Given the description of an element on the screen output the (x, y) to click on. 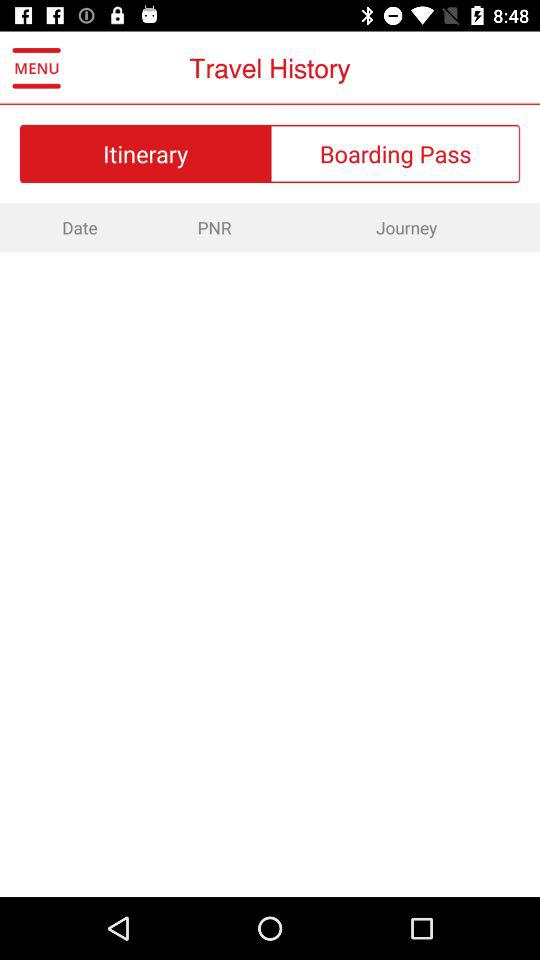
turn off item next to pnr (406, 227)
